Given the description of an element on the screen output the (x, y) to click on. 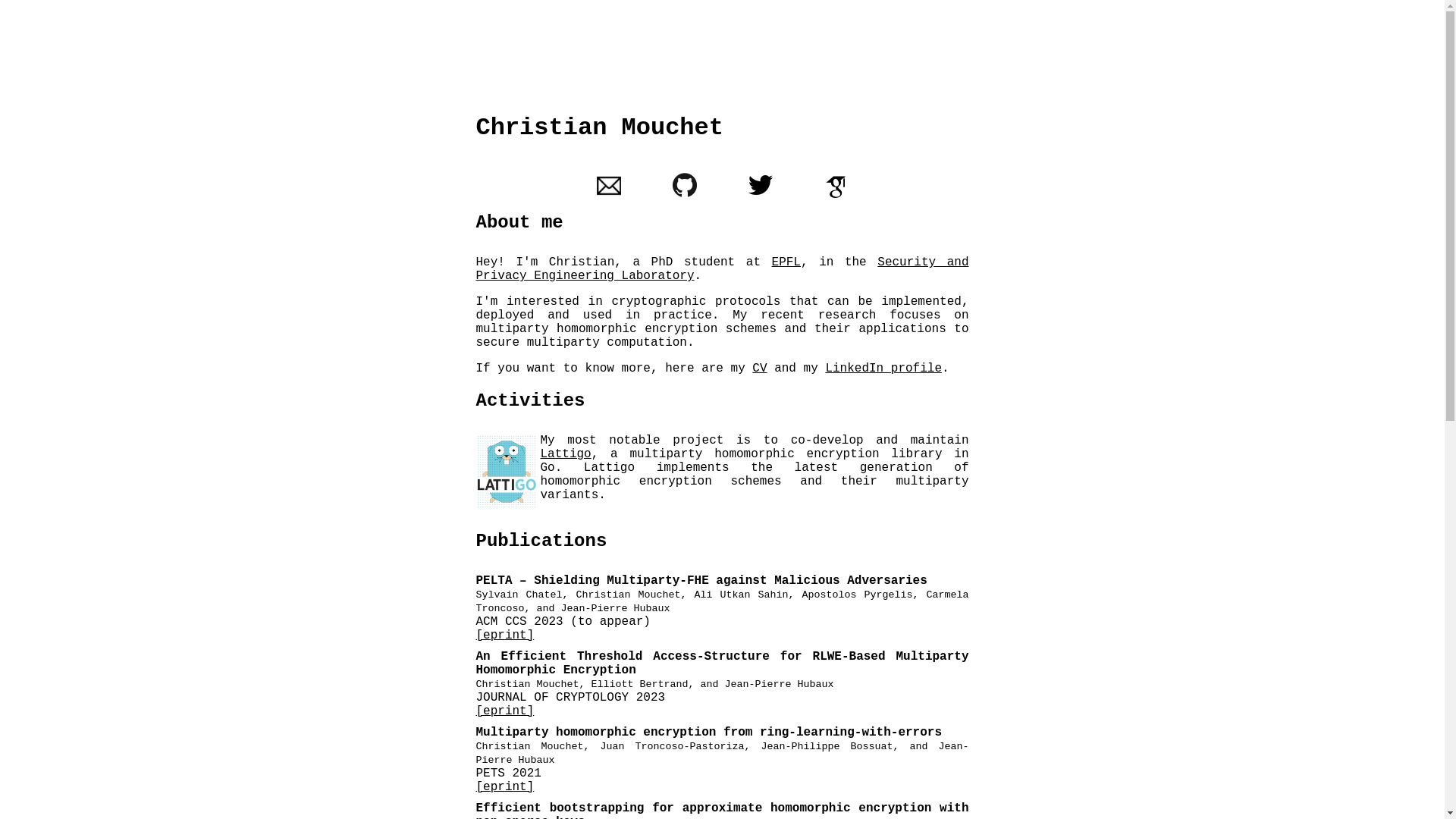
Security and Privacy Engineering Laboratory Element type: text (722, 268)
LinkedIn profile Element type: text (883, 368)
CV Element type: text (759, 368)
[eprint] Element type: text (505, 635)
[eprint] Element type: text (505, 711)
[eprint] Element type: text (505, 786)
EPFL Element type: text (785, 262)
Lattigo Element type: text (564, 454)
